Given the description of an element on the screen output the (x, y) to click on. 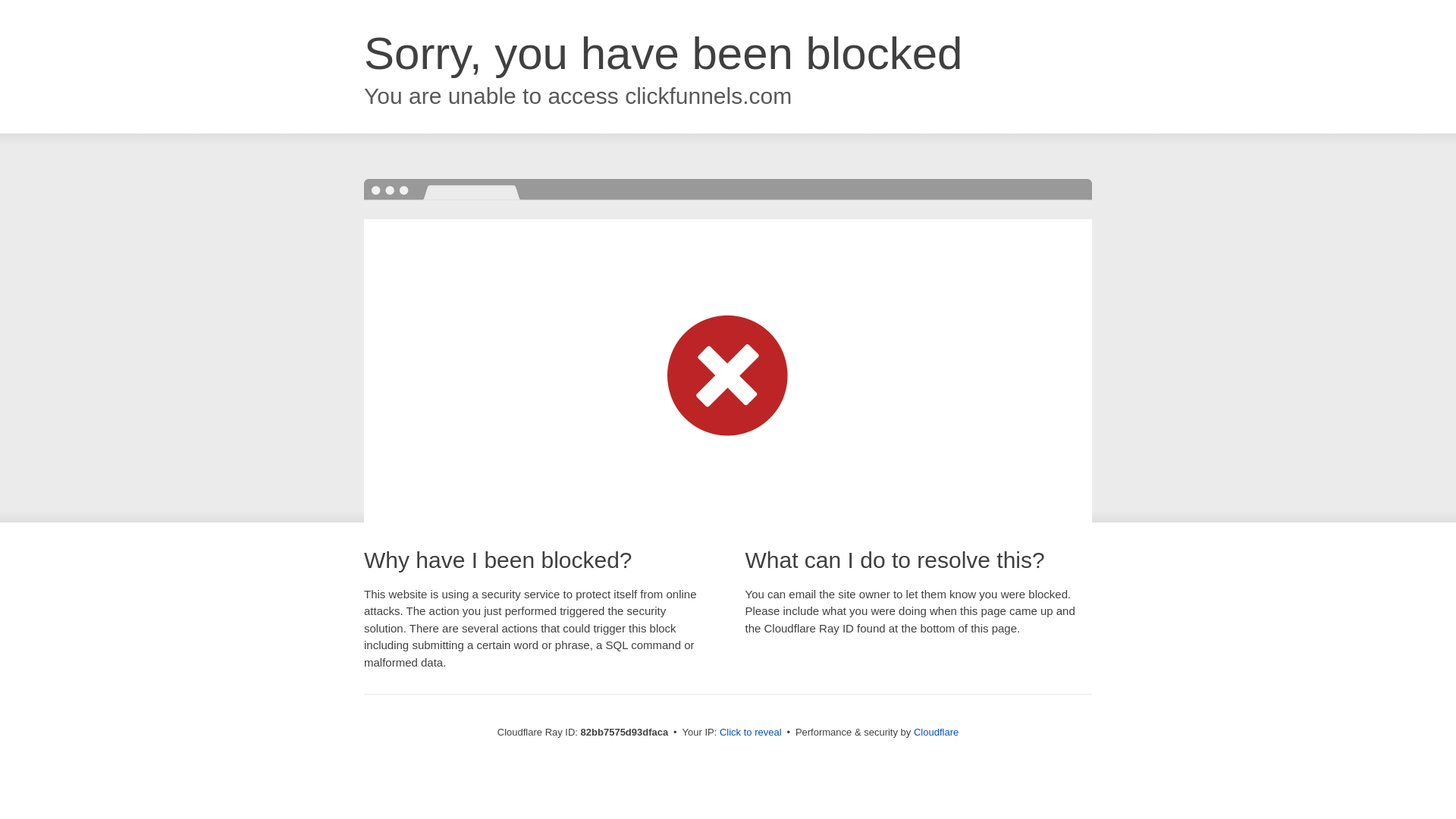
Click to reveal Element type: text (750, 732)
Cloudflare Element type: text (935, 731)
